Given the description of an element on the screen output the (x, y) to click on. 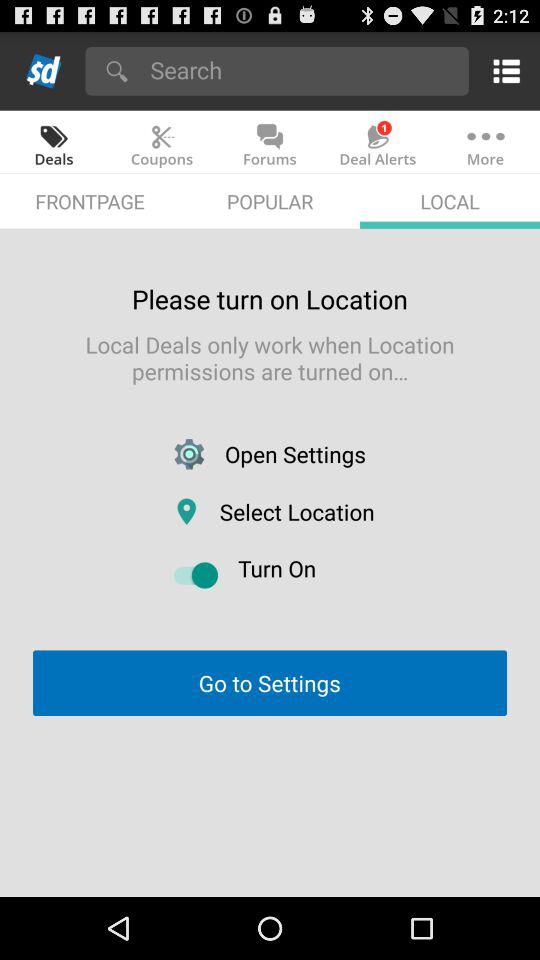
select options (502, 70)
